Given the description of an element on the screen output the (x, y) to click on. 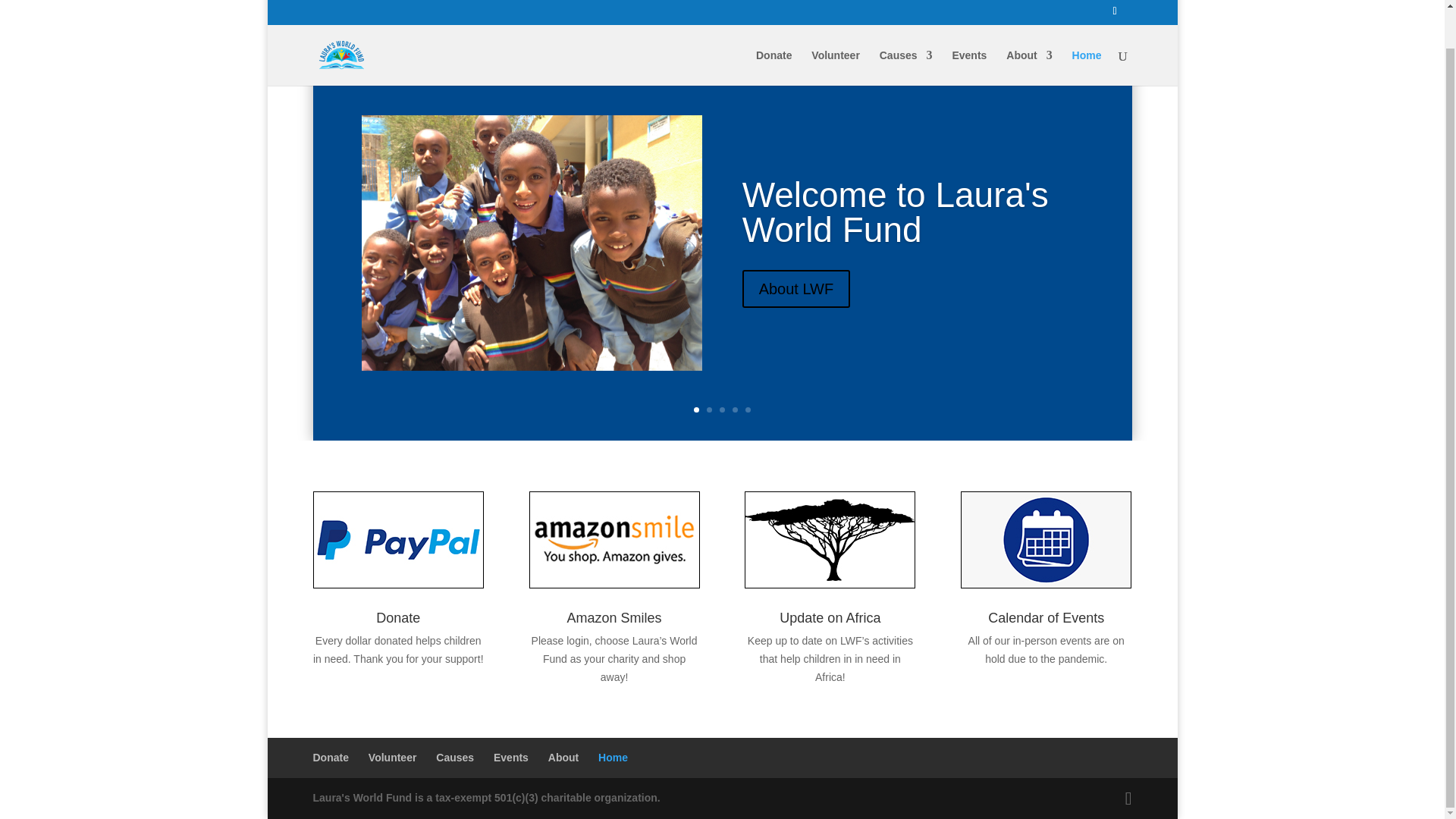
About (1028, 27)
About LWF (796, 323)
Events (969, 27)
Volunteer (835, 27)
Welcome to Laura's World Fund (895, 247)
Causes (906, 27)
Donate (773, 27)
